Given the description of an element on the screen output the (x, y) to click on. 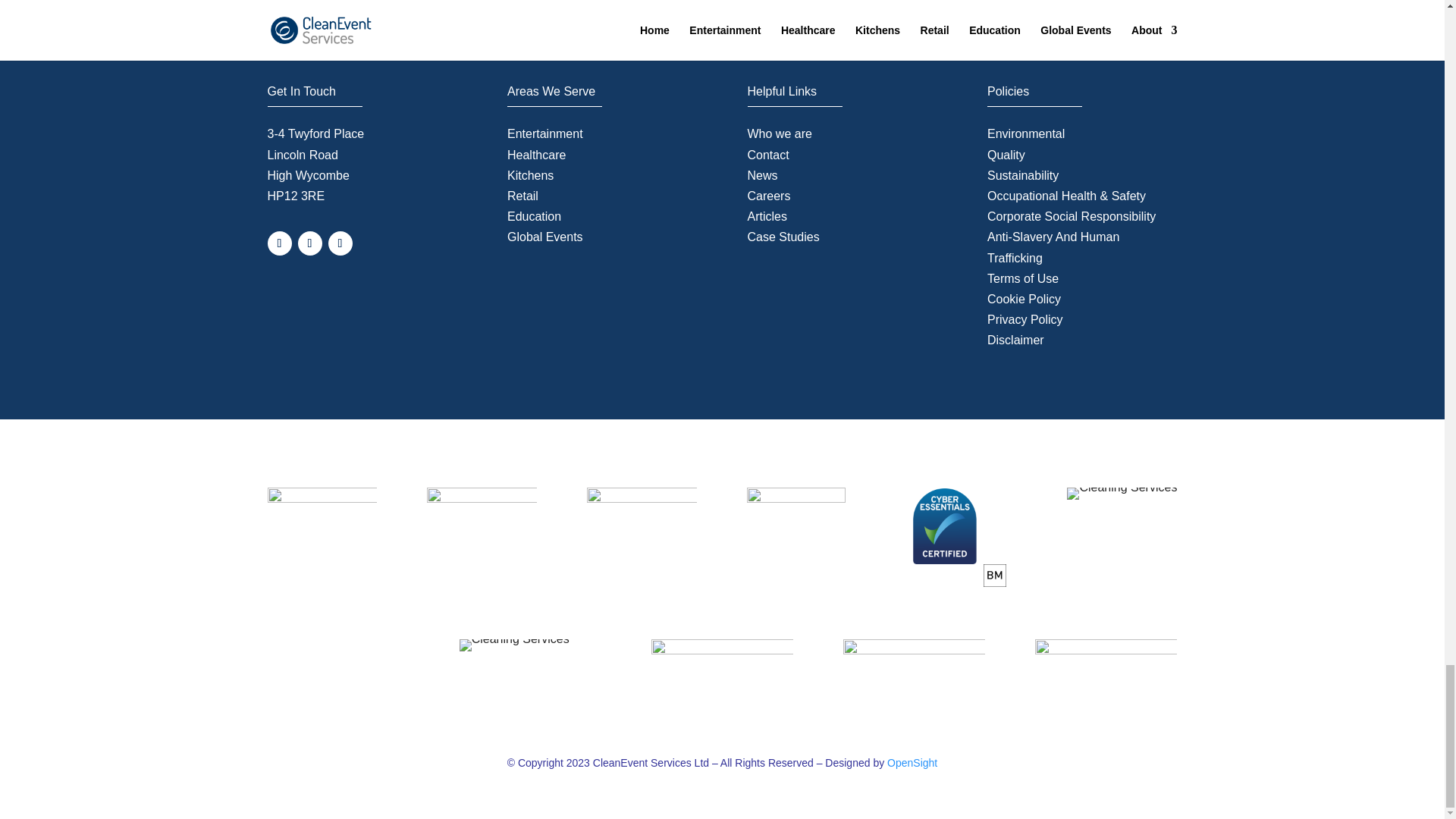
Corporate Social Responsibility (1071, 215)
Who we are (780, 133)
Cleaning Services by CleanEvent (321, 29)
News (762, 174)
ISO9001 (514, 645)
Follow on Facebook (278, 242)
Entertainment (544, 133)
Case Studies (783, 236)
Sustainability (1022, 174)
Healthcare (536, 154)
Follow on Twitter (309, 242)
Global Events (544, 236)
Follow on LinkedIn (339, 242)
Careers (769, 195)
Quality (1006, 154)
